Given the description of an element on the screen output the (x, y) to click on. 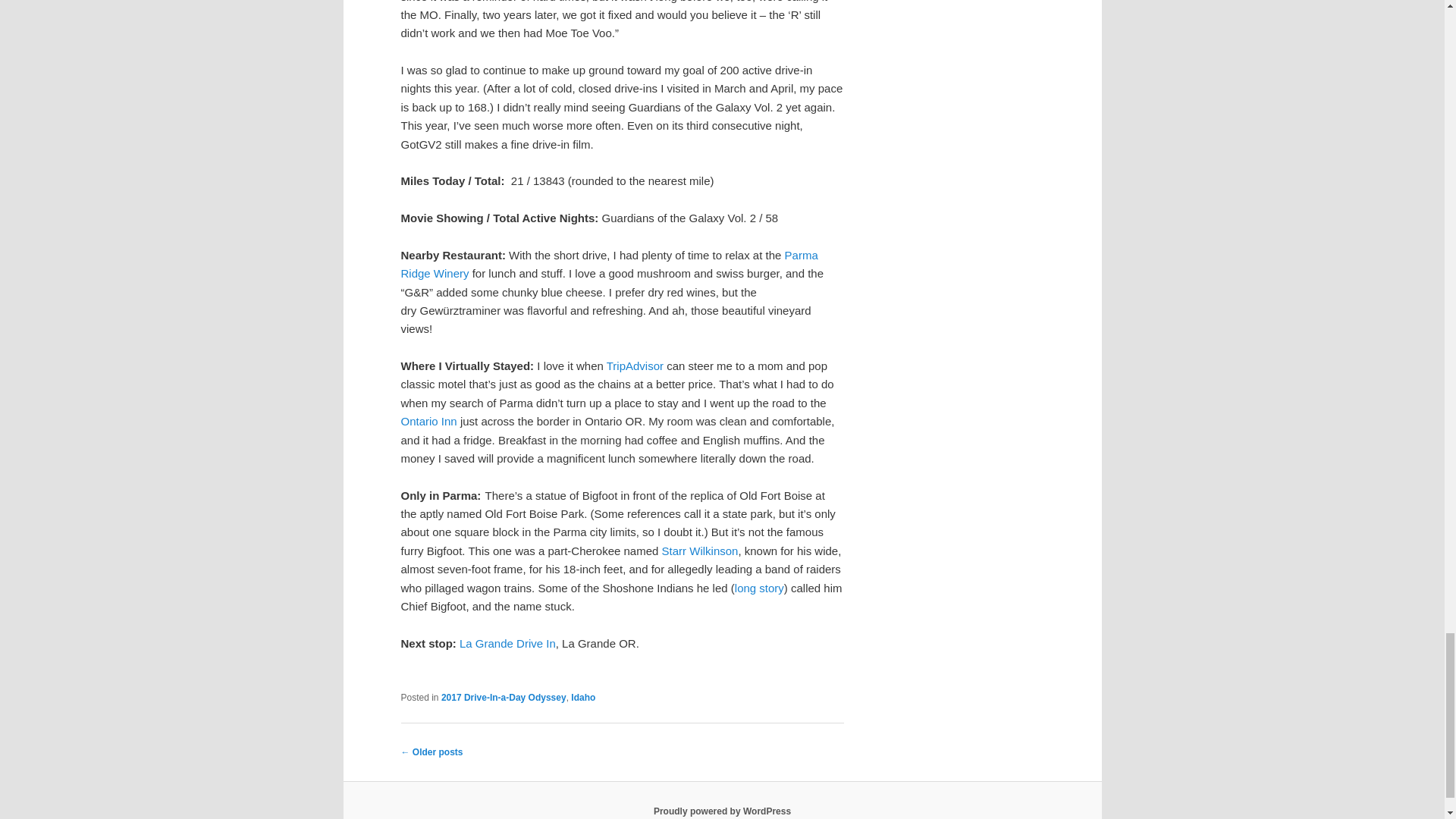
Semantic Personal Publishing Platform (721, 810)
